Given the description of an element on the screen output the (x, y) to click on. 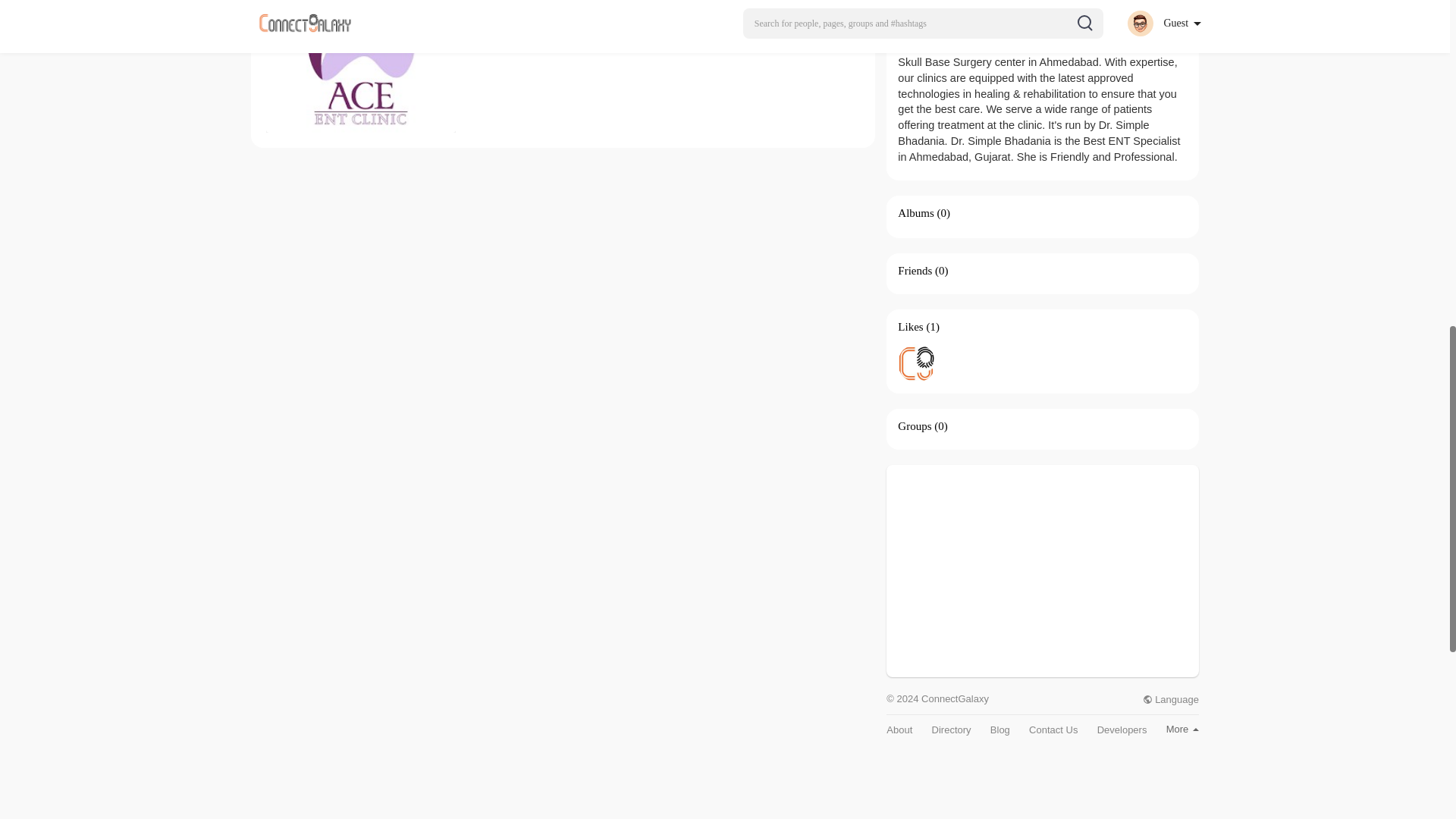
About (899, 729)
Contact Us (1053, 729)
Albums (916, 213)
Advertisement (1042, 571)
Friends (914, 270)
Likes (910, 326)
Blog (1000, 729)
Groups (914, 426)
Developers (1122, 729)
ConnectGalaxy (917, 362)
More (1182, 728)
Directory (951, 729)
Language (1170, 699)
